Given the description of an element on the screen output the (x, y) to click on. 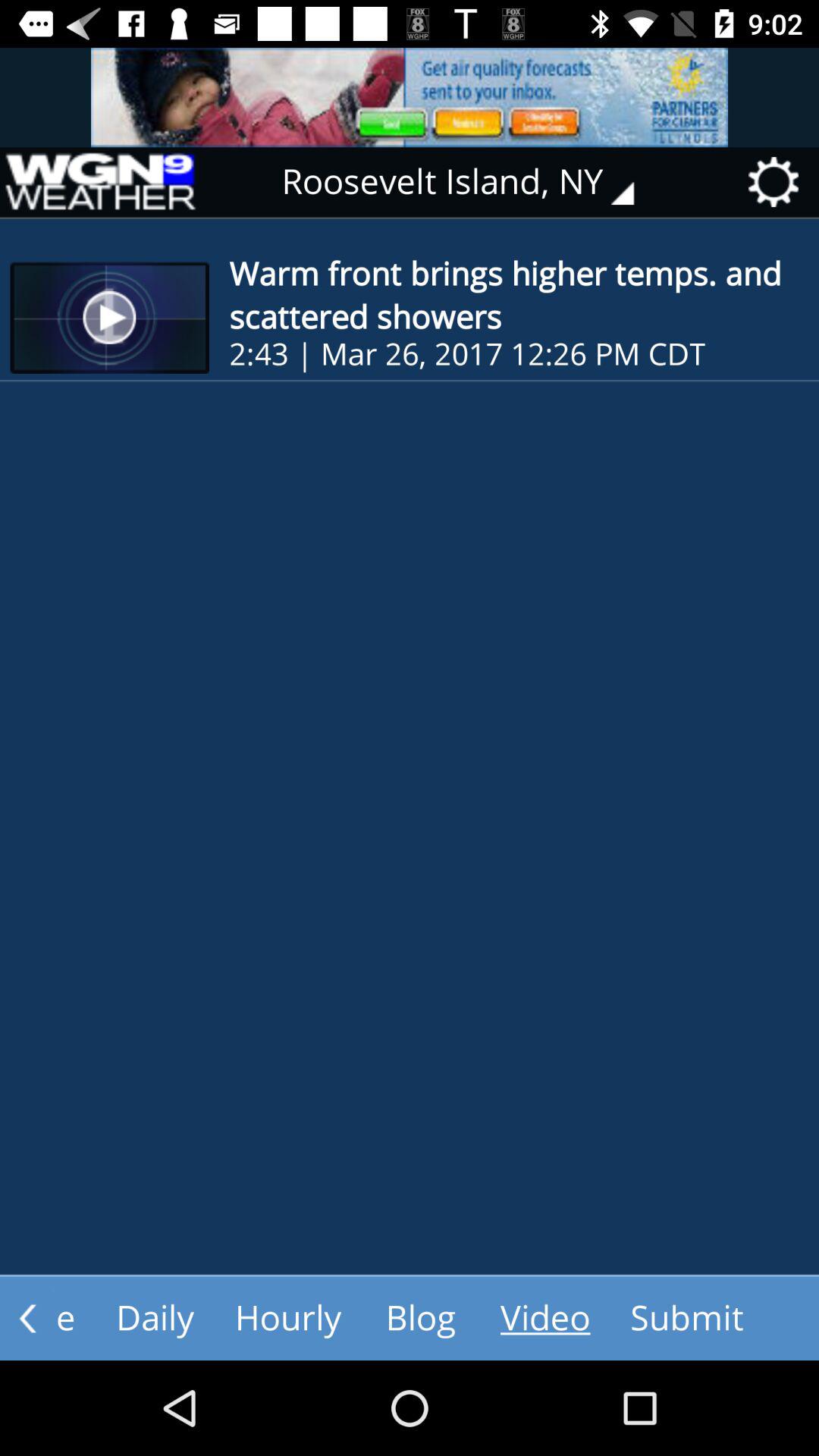
go to the first thumbnail of the page (109, 318)
click the text which is just left to video (420, 1318)
go to the immediate text which is left to the setting icon (468, 181)
submit (686, 1318)
go to the settings (778, 181)
select daily (155, 1318)
